Given the description of an element on the screen output the (x, y) to click on. 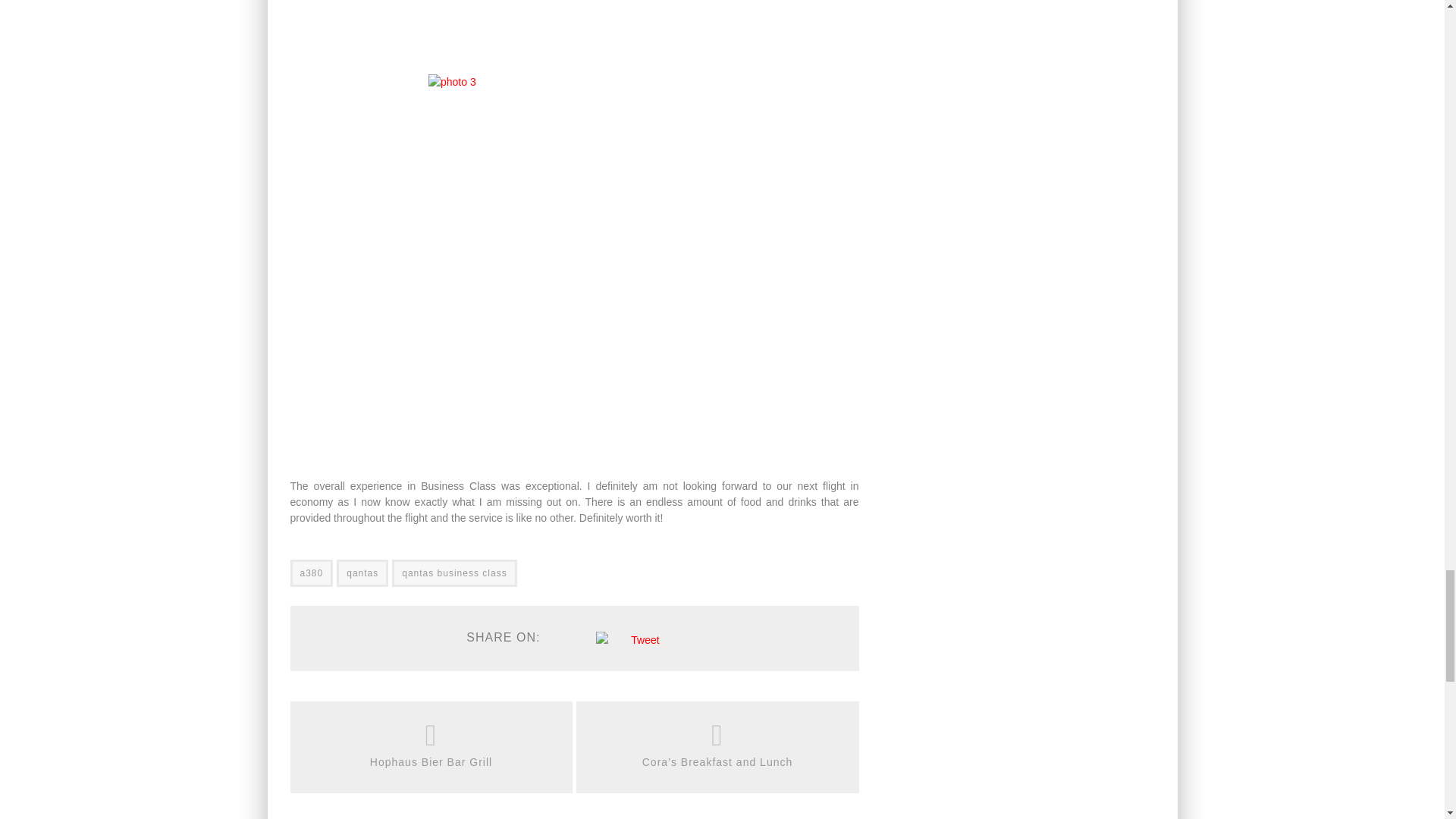
qantas business class (453, 573)
a380 (311, 573)
Hophaus Bier Bar Grill (430, 762)
Tweet (644, 639)
qantas (362, 573)
